Given the description of an element on the screen output the (x, y) to click on. 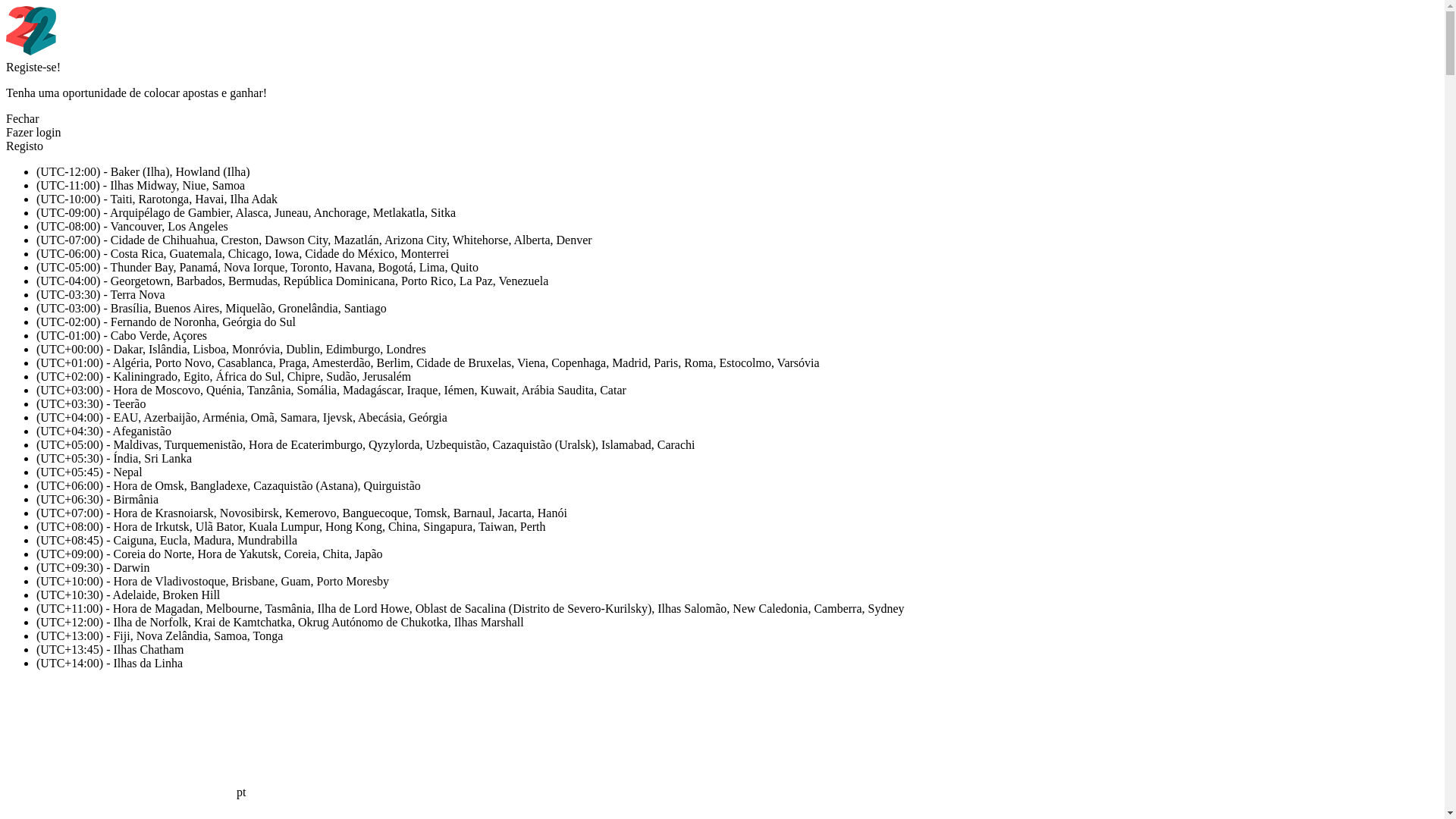
Registo Element type: text (24, 145)
